Given the description of an element on the screen output the (x, y) to click on. 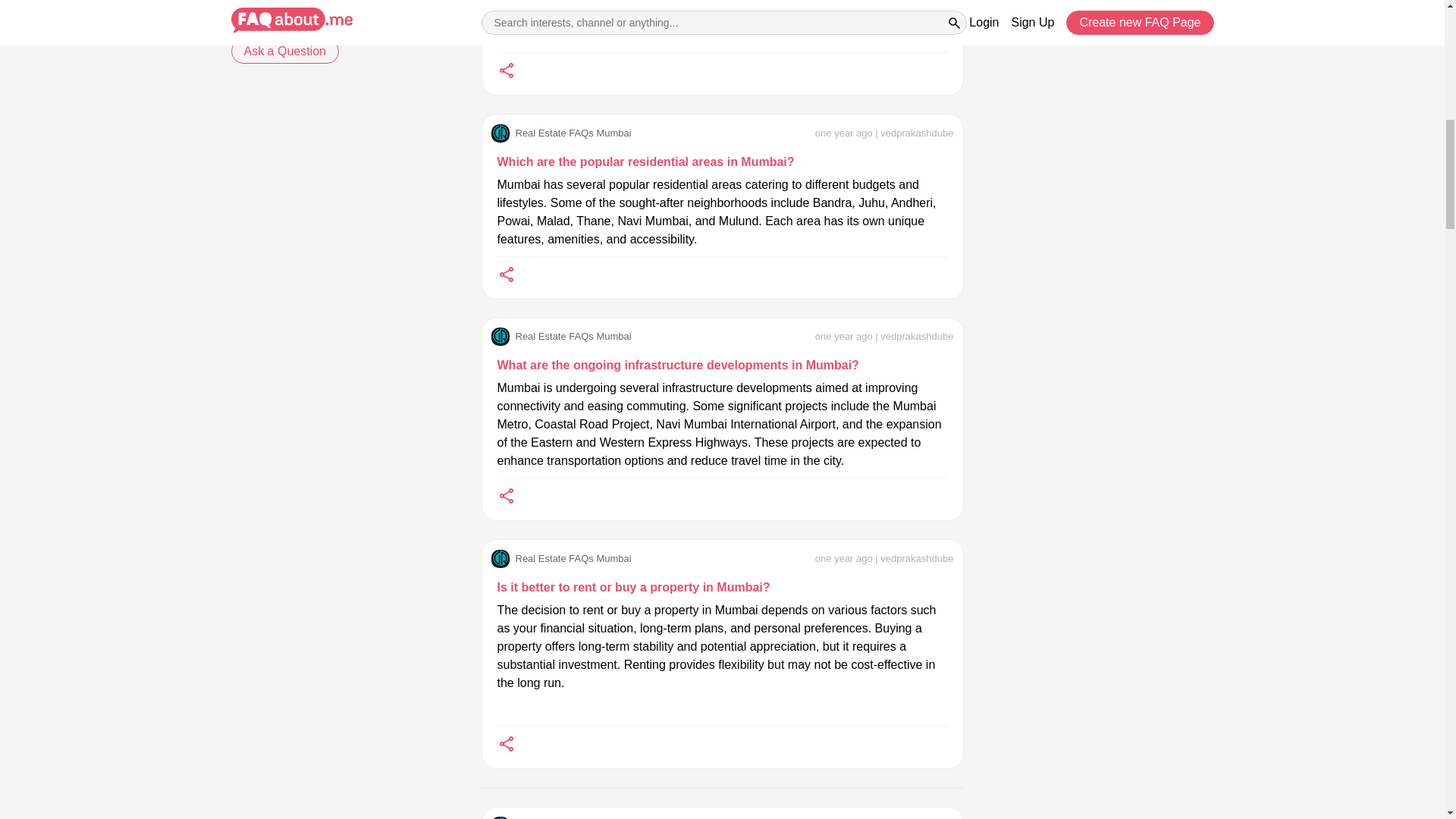
Which is the most expensive residential area in Mumbai? (340, 563)
Which are the popular residential areas in Mumbai? (645, 161)
Real Estate FAQs Mumbai (561, 132)
Is Mumbai a good place to invest in real estate? (340, 398)
How is the real estate market in Mumbai now? (340, 309)
What are the three important factors of real estate? (340, 519)
What is the biggest risk in real estate? (340, 484)
Why is Mumbai good for real estate? (340, 433)
What is the future of real estate in Mumbai? (340, 266)
Can foreigners buy property in Mumbai? (340, 221)
